Given the description of an element on the screen output the (x, y) to click on. 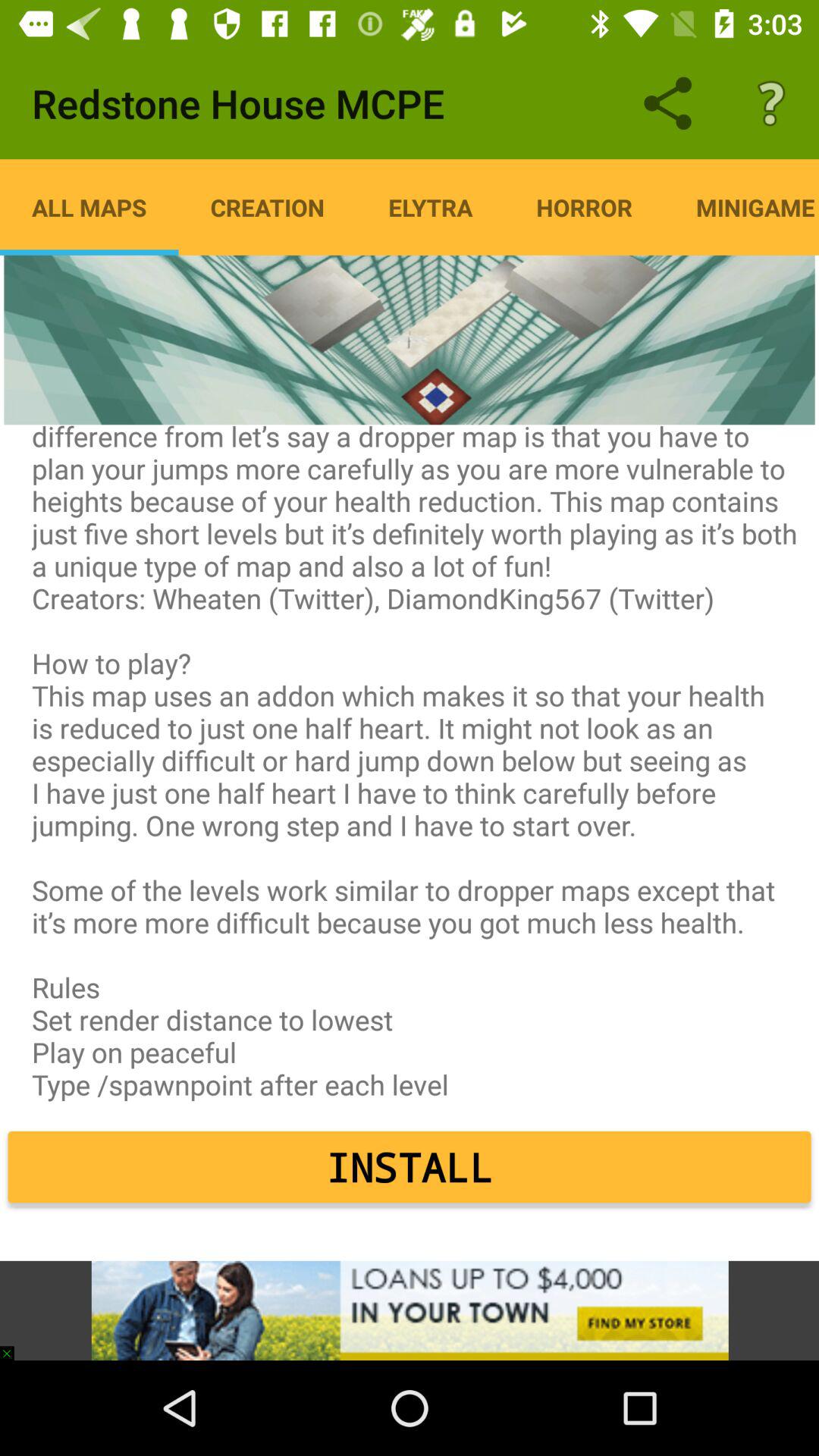
choose elytra item (430, 207)
